Given the description of an element on the screen output the (x, y) to click on. 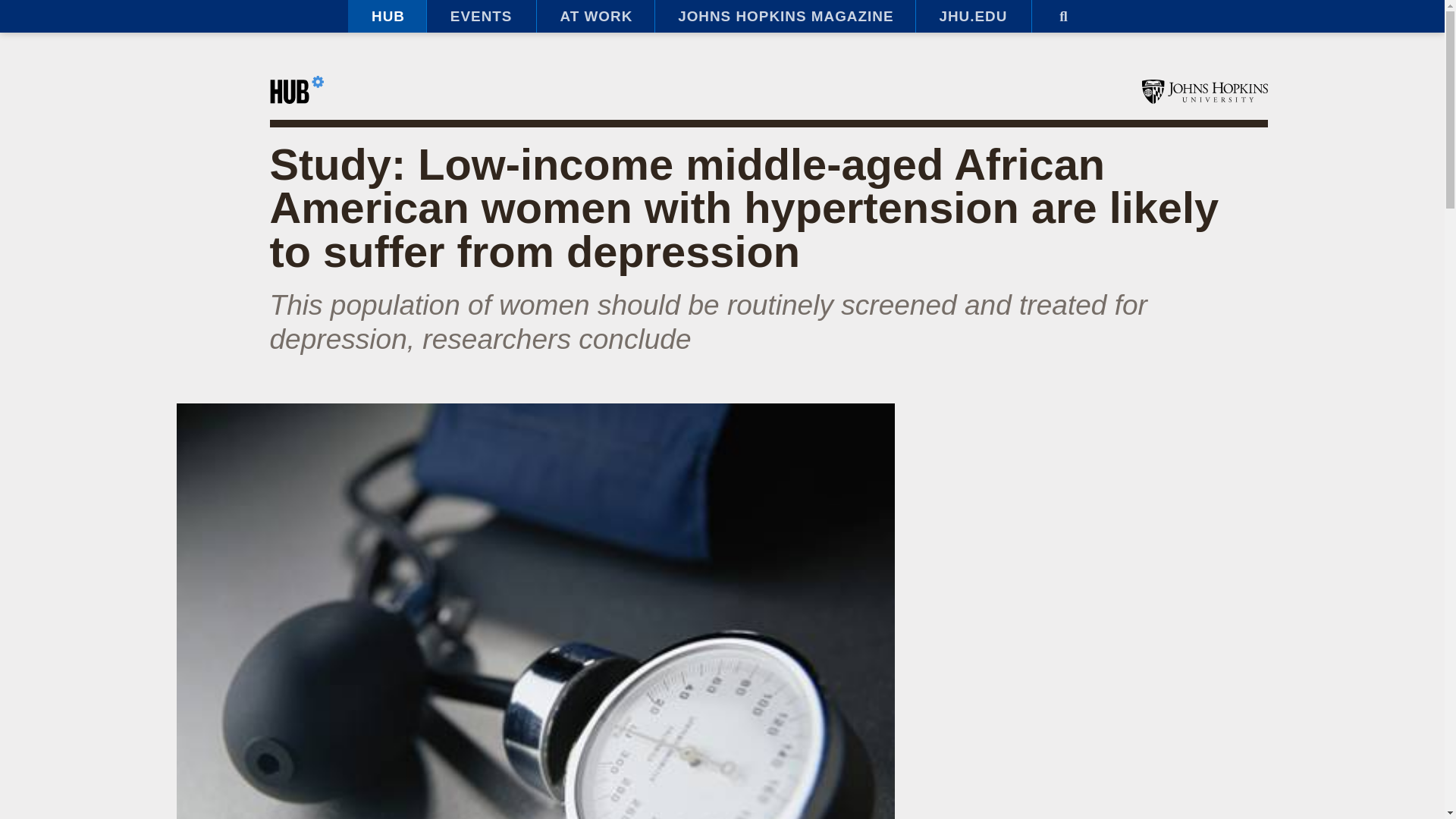
EVENTS (480, 16)
Johns Hopkins University (1204, 91)
AT WORK (594, 16)
JOHNS HOPKINS MAGAZINE (784, 16)
JHU.EDU (972, 16)
HUB (386, 16)
